Given the description of an element on the screen output the (x, y) to click on. 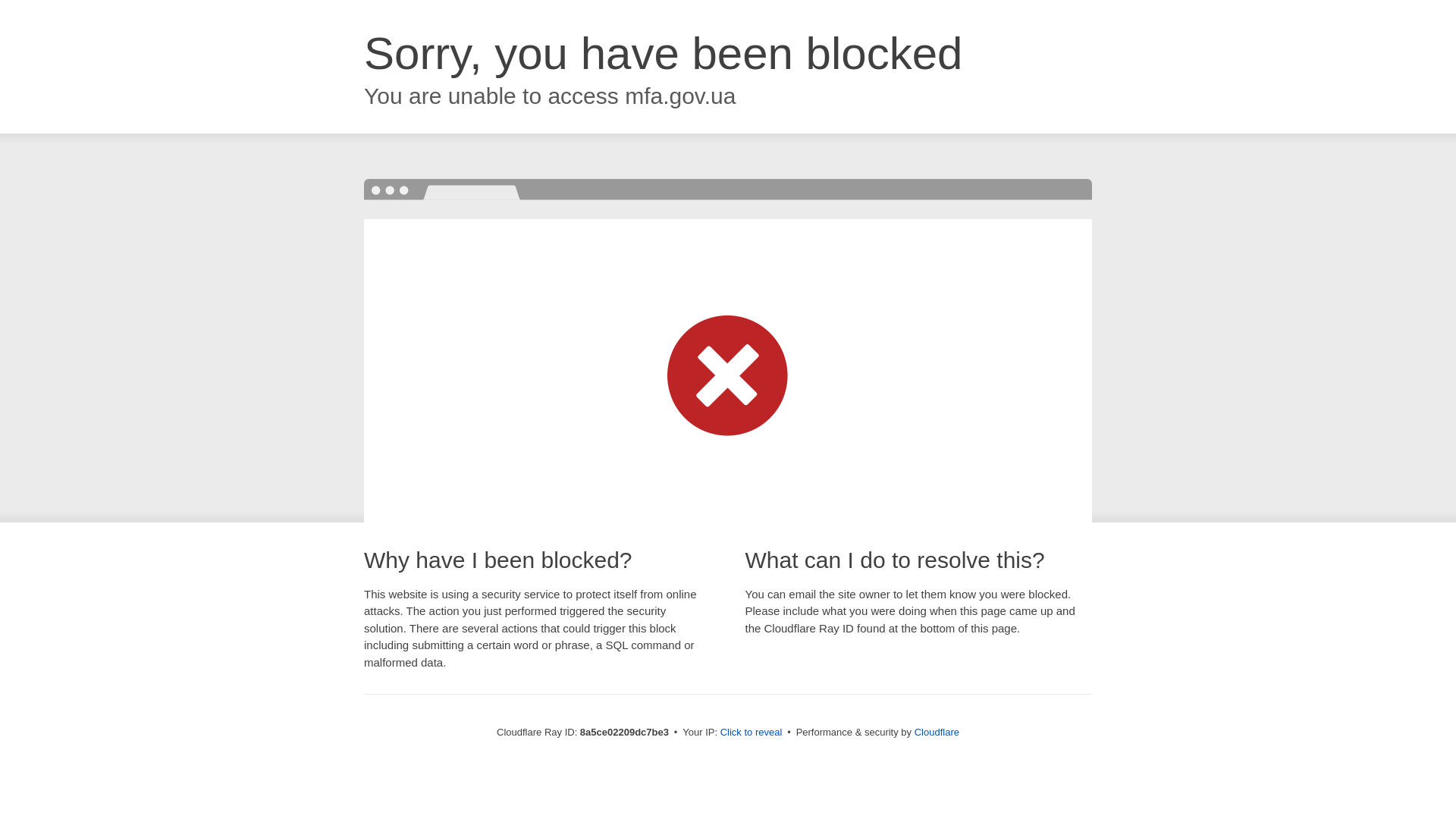
Click to reveal (751, 732)
Cloudflare (936, 731)
